Given the description of an element on the screen output the (x, y) to click on. 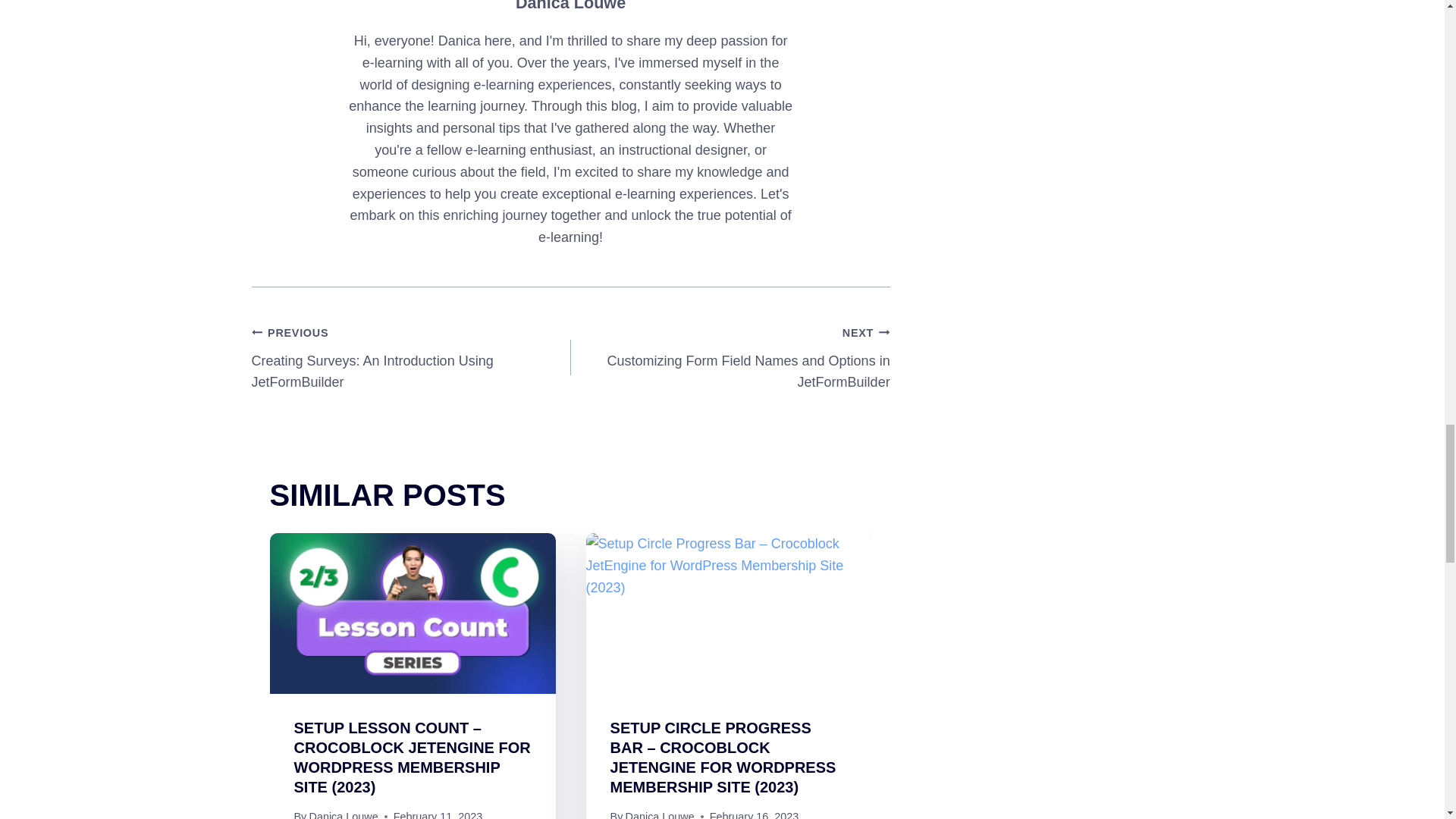
Danica Louwe (660, 814)
Posts by Danica Louwe (570, 6)
Danica Louwe (570, 6)
Danica Louwe (342, 814)
